Given the description of an element on the screen output the (x, y) to click on. 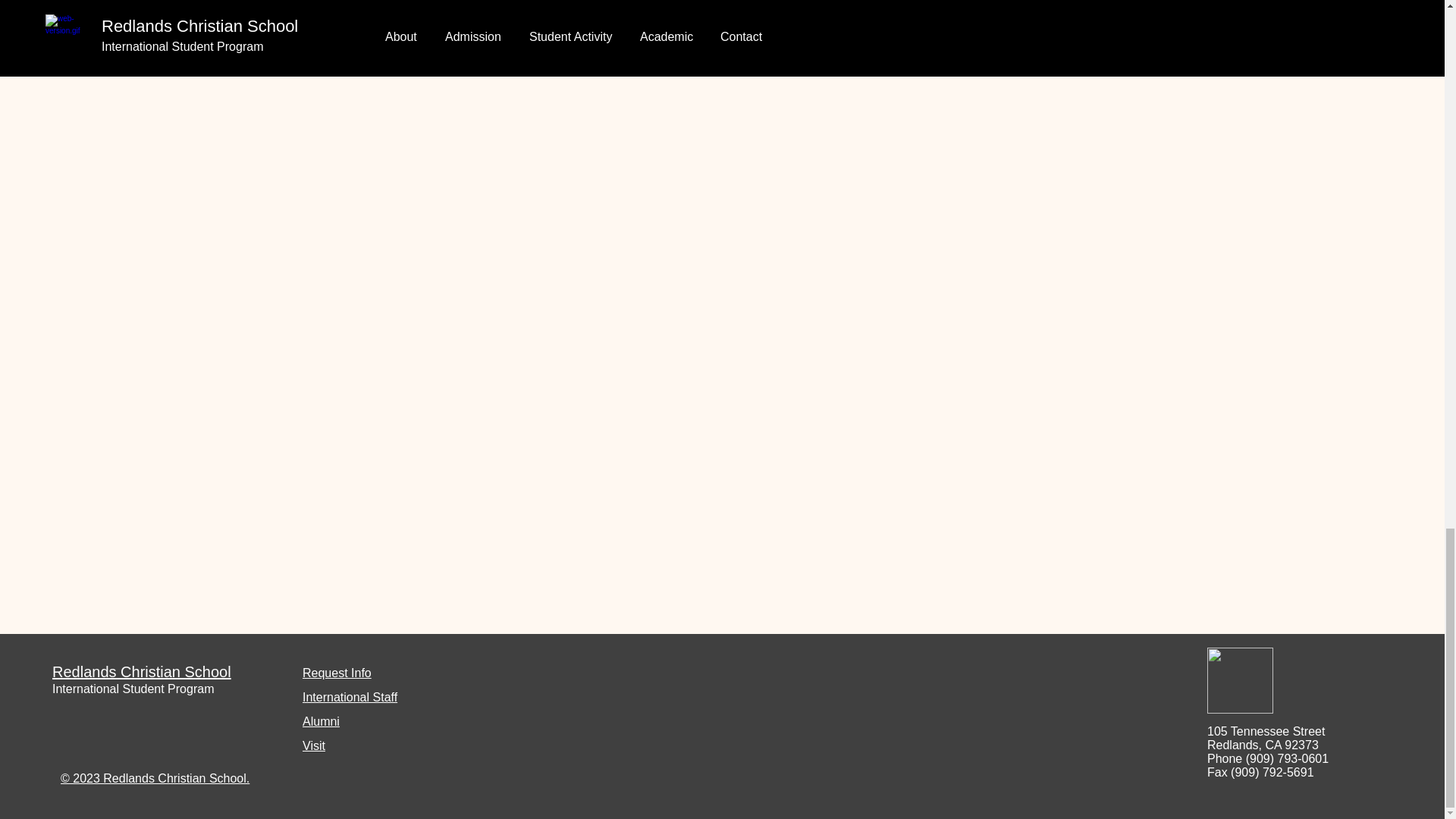
Redlands Christian School (141, 671)
International Staff (349, 697)
Visit (313, 745)
Alumni (320, 721)
Request Info (336, 672)
